Given the description of an element on the screen output the (x, y) to click on. 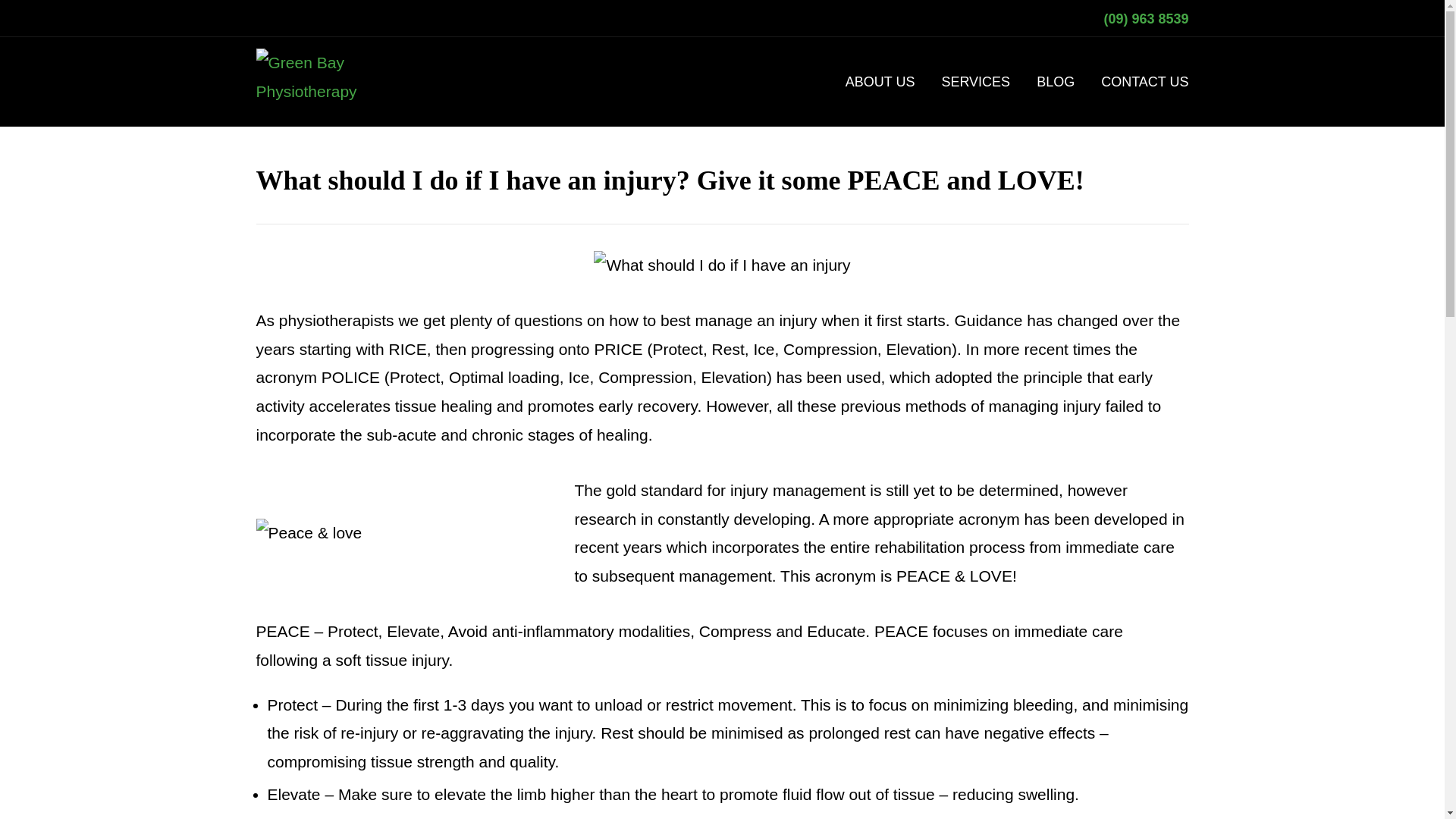
SERVICES (975, 81)
Green Bay Physiotherapy (337, 81)
CONTACT US (1144, 81)
ABOUT US (880, 81)
What should I do if I have an injury (722, 265)
